Given the description of an element on the screen output the (x, y) to click on. 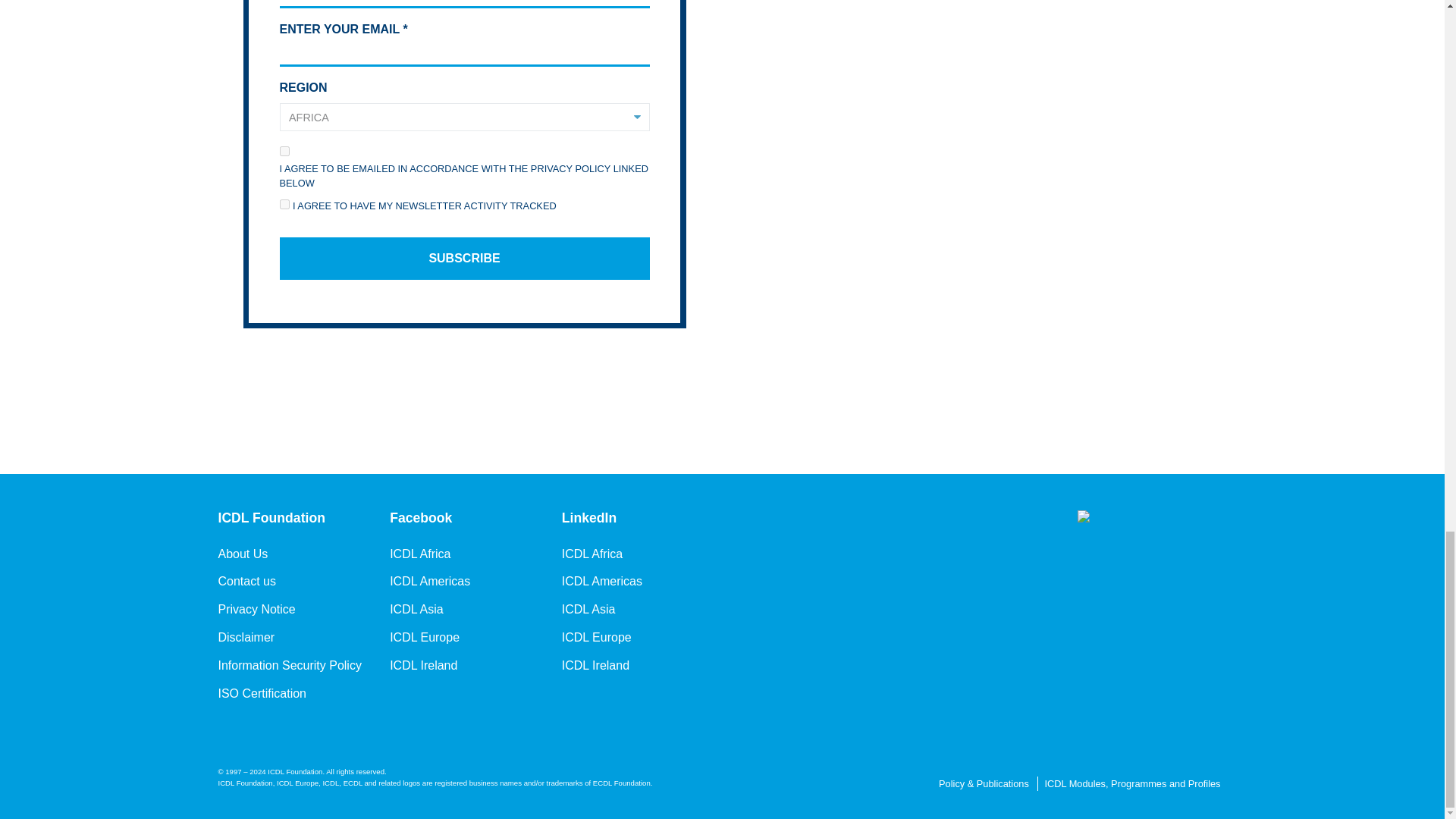
Contact us (247, 581)
ICDL Europe (596, 637)
on (283, 204)
ICDL Asia (417, 609)
About Us (242, 553)
SUBSCRIBE (464, 258)
ICDL Americas (430, 581)
ICDL Ireland (423, 665)
Information Security Policy (289, 665)
ISO Certification (261, 692)
